Given the description of an element on the screen output the (x, y) to click on. 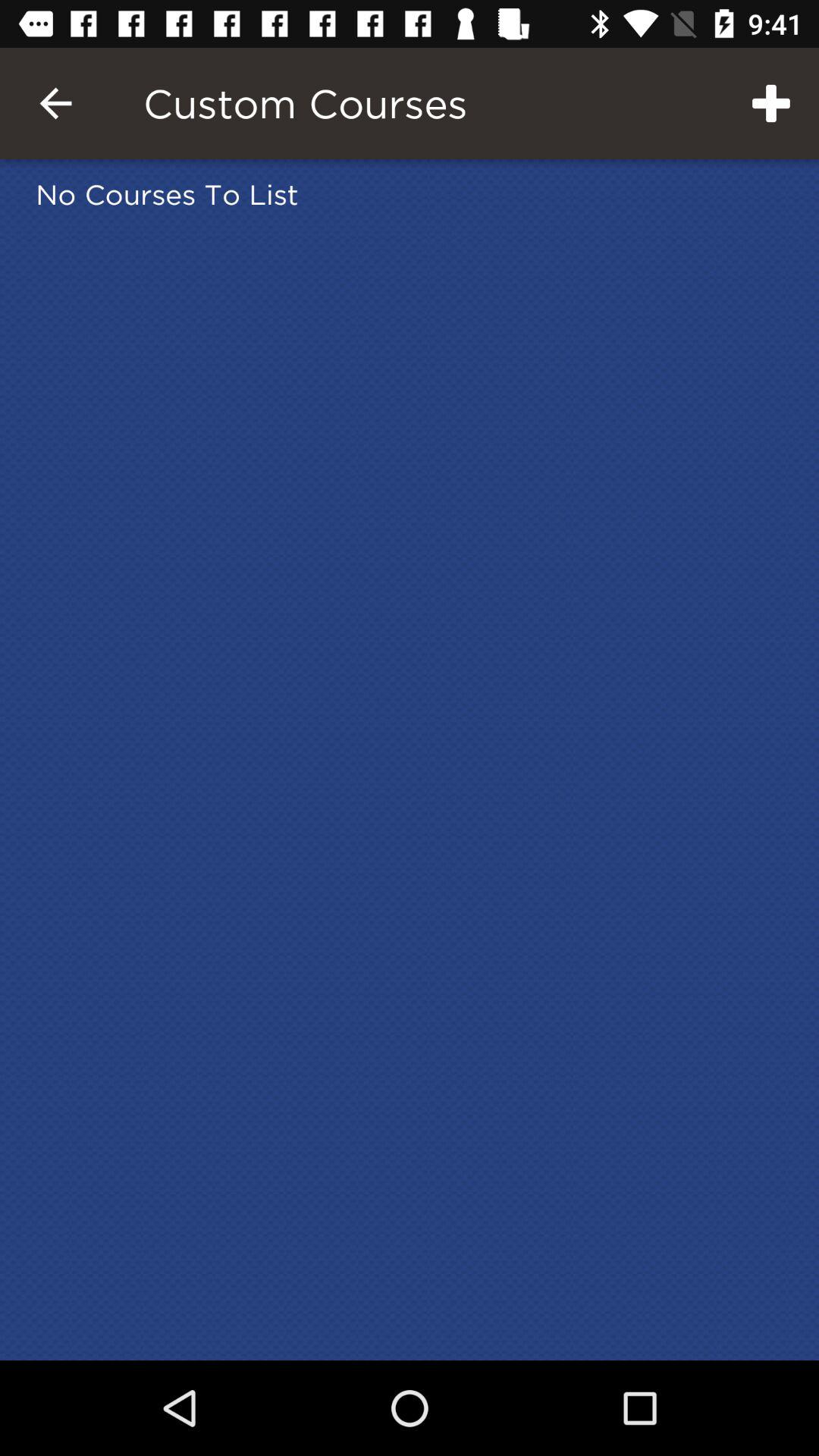
choose the icon at the top left corner (55, 103)
